Given the description of an element on the screen output the (x, y) to click on. 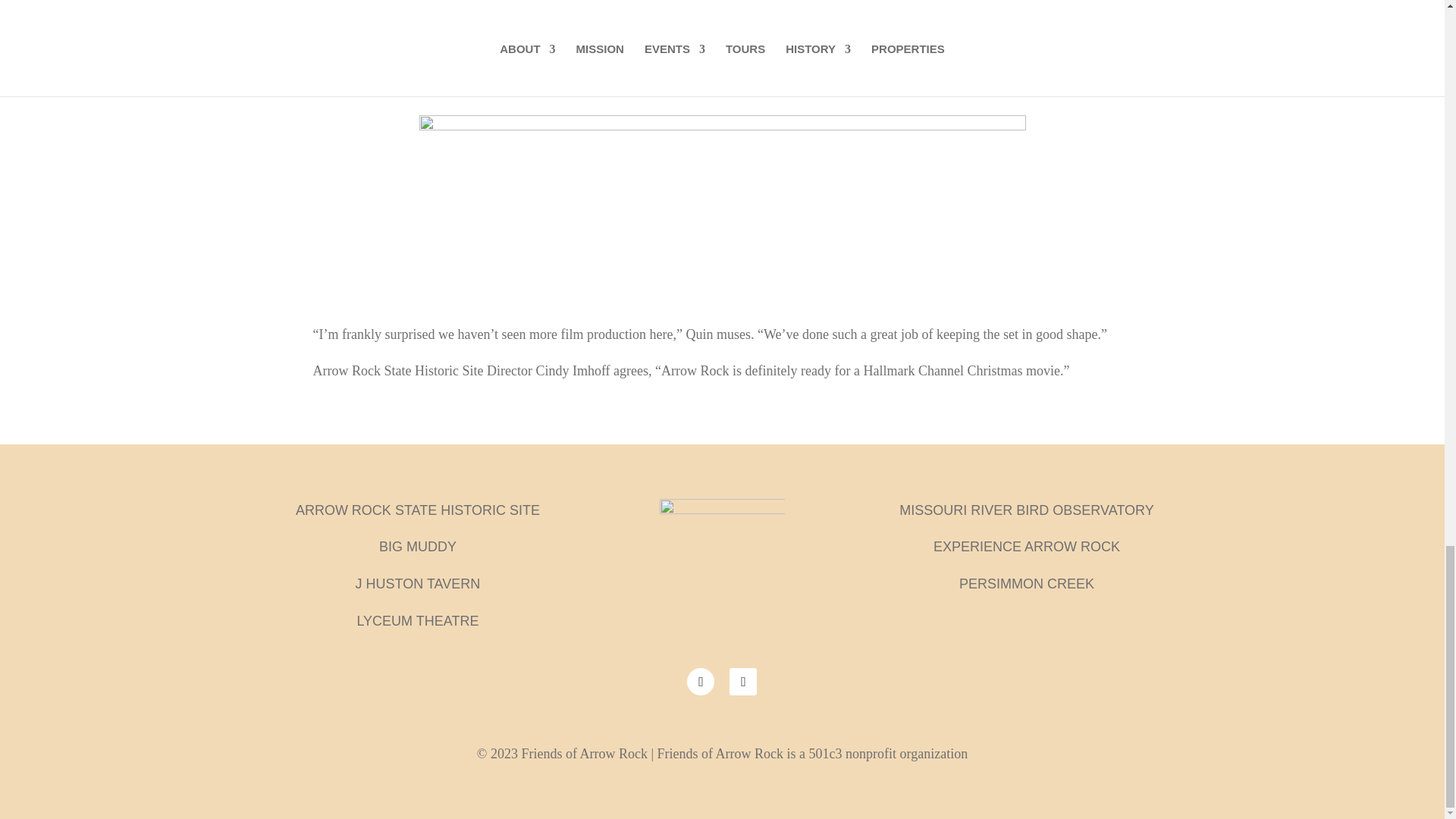
ARROW ROCK STATE HISTORIC SITE (417, 509)
Follow on Facebook (700, 681)
BIG MUDDY (417, 546)
MISSOURI RIVER BIRD OBSERVATORY (1026, 509)
EXPERIENCE ARROW ROCK (1026, 546)
Follow on Youtube (743, 681)
LYCEUM THEATRE (417, 620)
PERSIMMON CREEK (1026, 583)
J HUSTON TAVERN (417, 583)
